Given the description of an element on the screen output the (x, y) to click on. 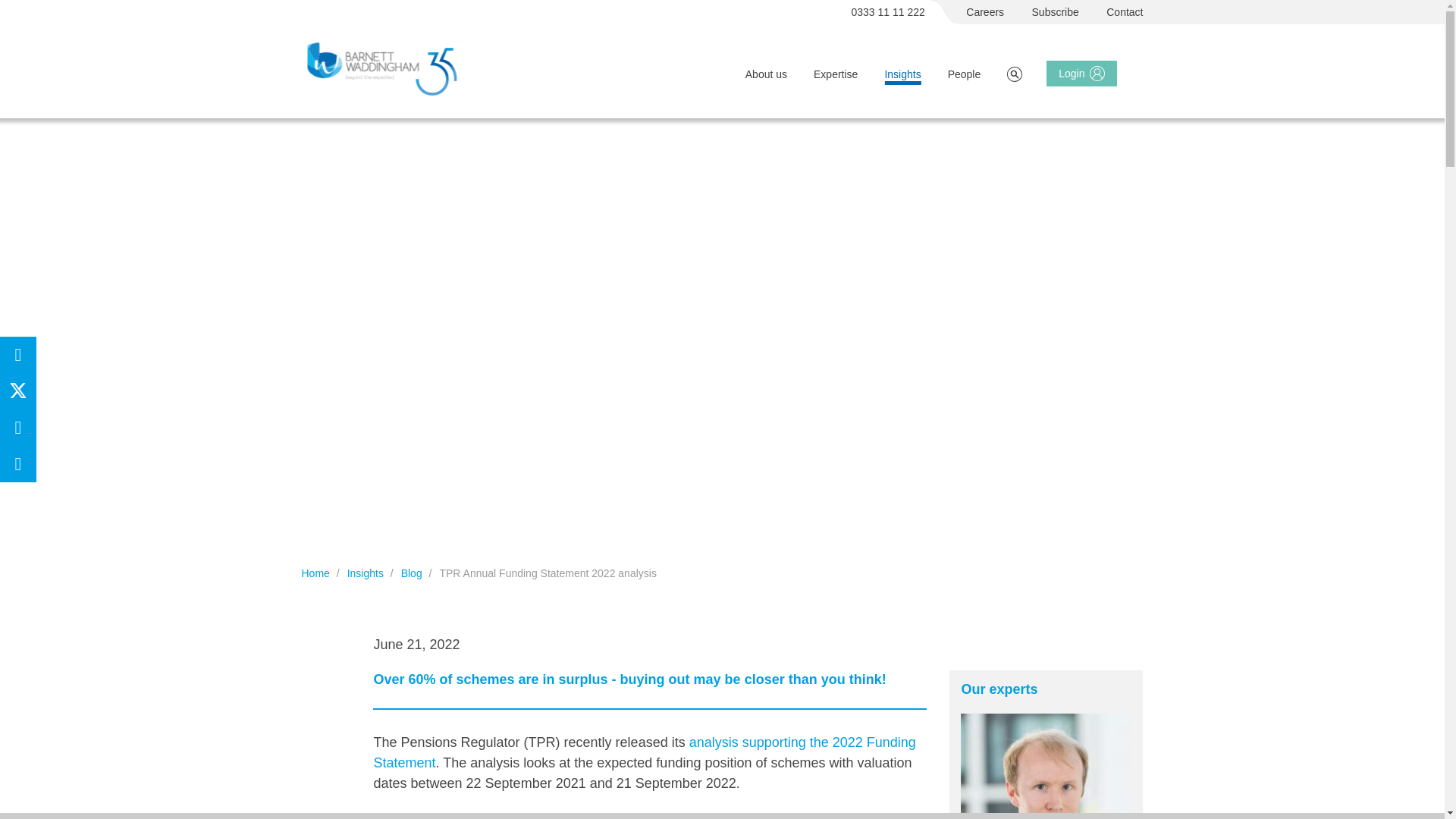
0333 11 11 222 (889, 12)
Subscribe (1055, 12)
About us (766, 73)
Contact (1124, 12)
Careers (985, 12)
Expertise (835, 73)
